Given the description of an element on the screen output the (x, y) to click on. 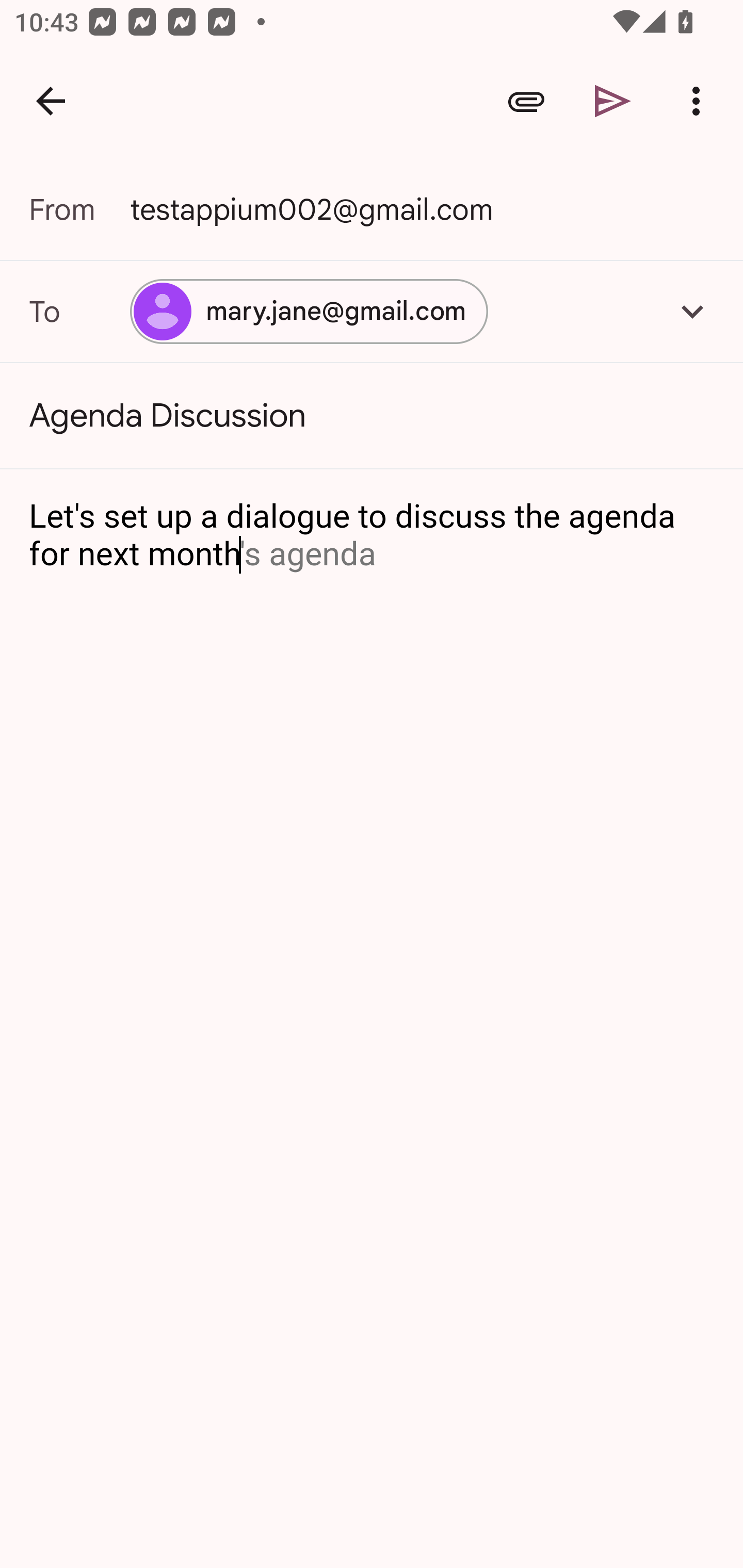
Navigate up (50, 101)
Attach file (525, 101)
Send (612, 101)
More options (699, 101)
From (79, 209)
Add Cc/Bcc (692, 311)
Agenda Discussion (371, 415)
